Given the description of an element on the screen output the (x, y) to click on. 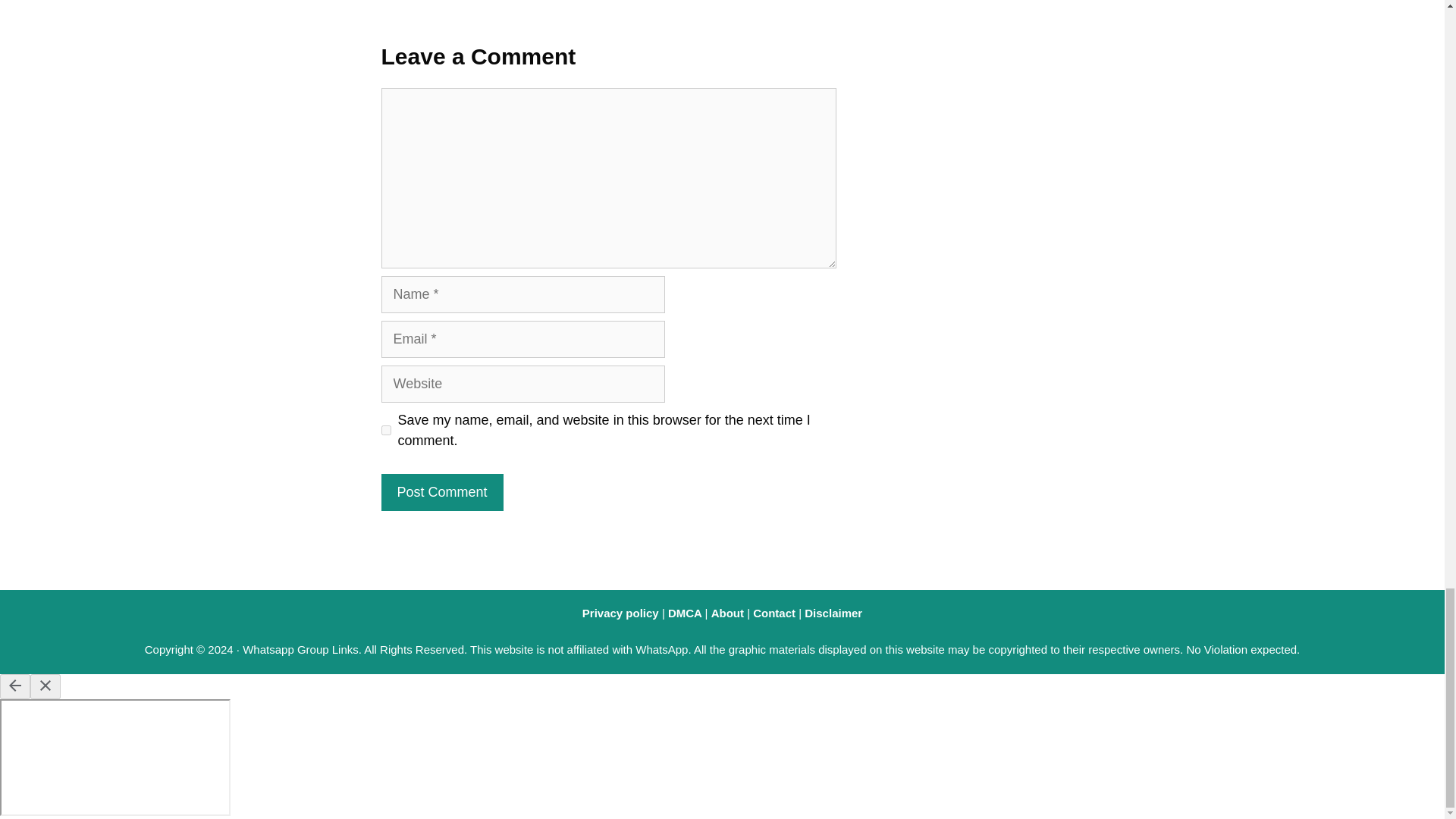
Post Comment (441, 492)
yes (385, 429)
